Given the description of an element on the screen output the (x, y) to click on. 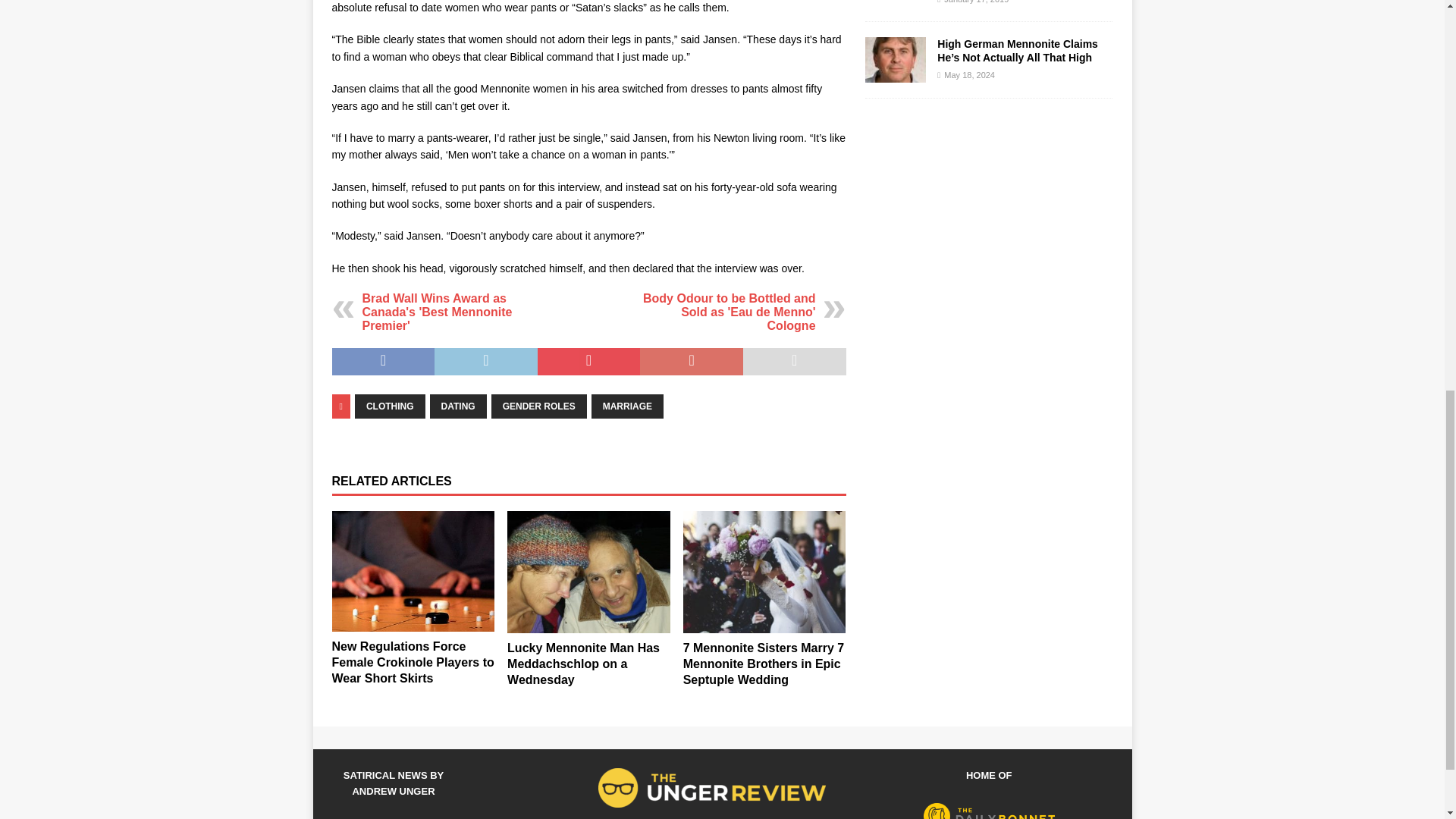
Body Odour to be Bottled and Sold as 'Eau de Menno' Cologne (729, 311)
Lucky Mennonite Man Has Meddachschlop on a Wednesday (582, 663)
Lucky Mennonite Man Has Meddachschlop on a Wednesday (587, 572)
Brad Wall Wins Award as Canada's 'Best Mennonite Premier' (437, 311)
